Given the description of an element on the screen output the (x, y) to click on. 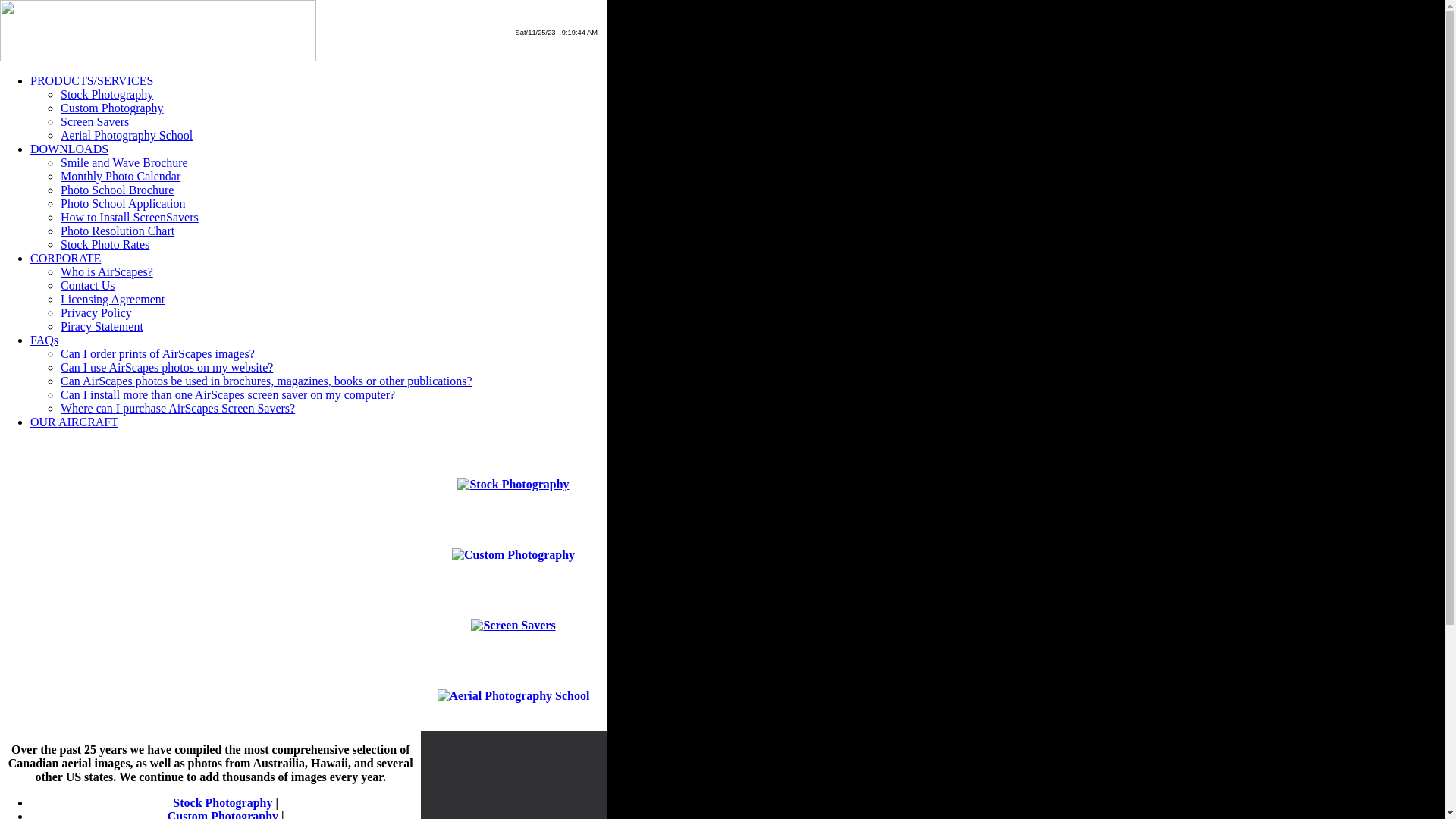
Who is AirScapes? Element type: text (106, 271)
Custom Photography Element type: text (111, 107)
Can I use AirScapes photos on my website? Element type: text (166, 366)
Stock Photography Element type: text (106, 93)
OUR AIRCRAFT Element type: text (74, 421)
Aerial Photography School Element type: text (126, 134)
FAQs Element type: text (44, 339)
Stock Photo Rates Element type: text (104, 244)
Smile and Wave Brochure Element type: text (124, 162)
DOWNLOADS Element type: text (69, 148)
How to Install ScreenSavers Element type: text (129, 216)
Contact Us Element type: text (87, 285)
CORPORATE Element type: text (65, 257)
Privacy Policy Element type: text (95, 312)
PRODUCTS/SERVICES Element type: text (91, 80)
Screen Savers Element type: text (94, 121)
Stock Photography Element type: text (222, 802)
Piracy Statement Element type: text (101, 326)
Where can I purchase AirScapes Screen Savers? Element type: text (177, 407)
Photo School Application Element type: text (122, 203)
Photo School Brochure Element type: text (116, 189)
Photo Resolution Chart Element type: text (117, 230)
Monthly Photo Calendar Element type: text (120, 175)
Can I order prints of AirScapes images? Element type: text (157, 353)
Licensing Agreement Element type: text (112, 298)
